Given the description of an element on the screen output the (x, y) to click on. 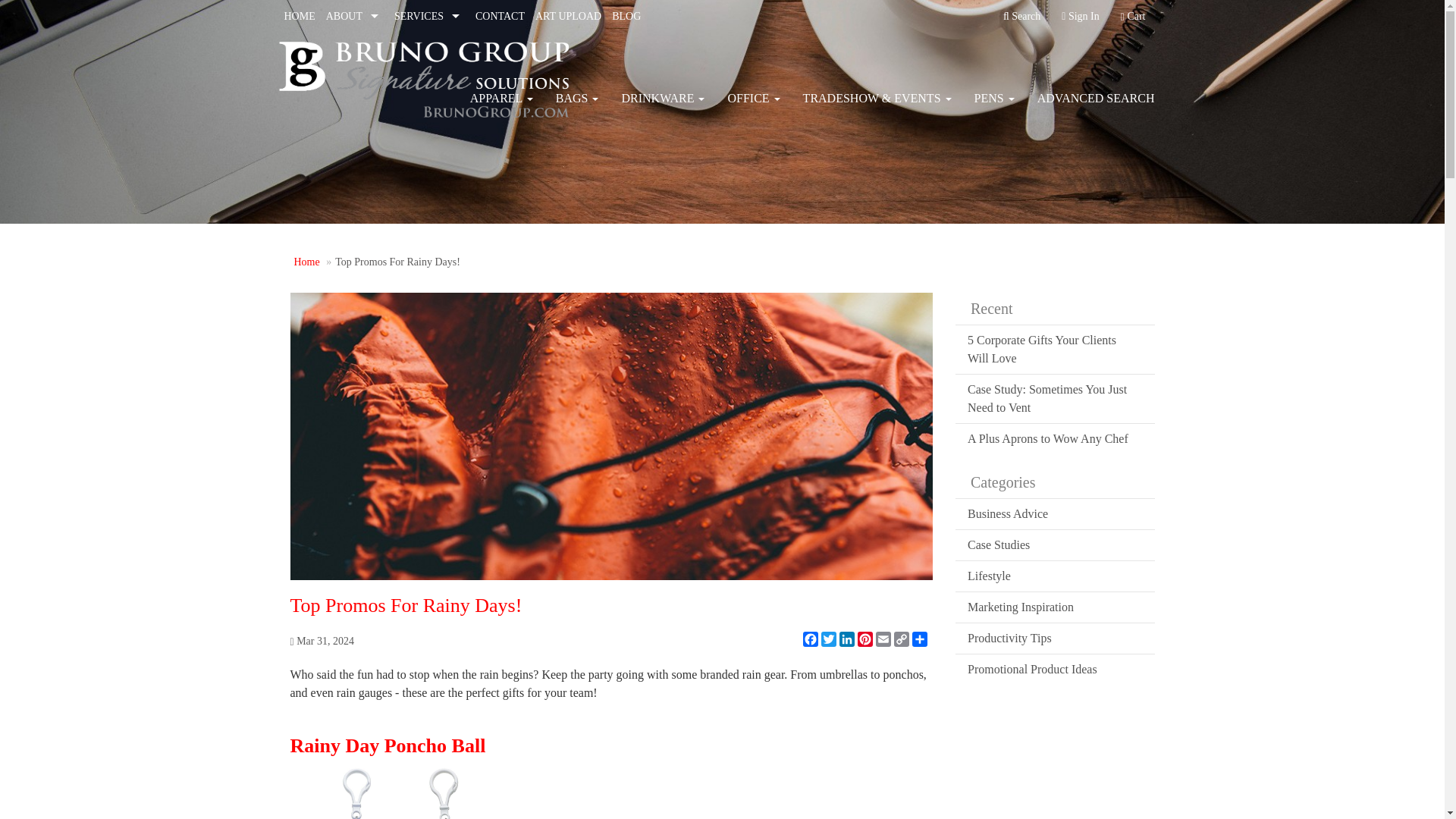
APPAREL (501, 98)
SERVICES (429, 16)
Sign In (1080, 16)
BLOG (626, 16)
CONTACT (499, 16)
Search (1021, 16)
ART UPLOAD (568, 16)
ABOUT (354, 16)
HOME (299, 16)
Cart (1133, 16)
